Given the description of an element on the screen output the (x, y) to click on. 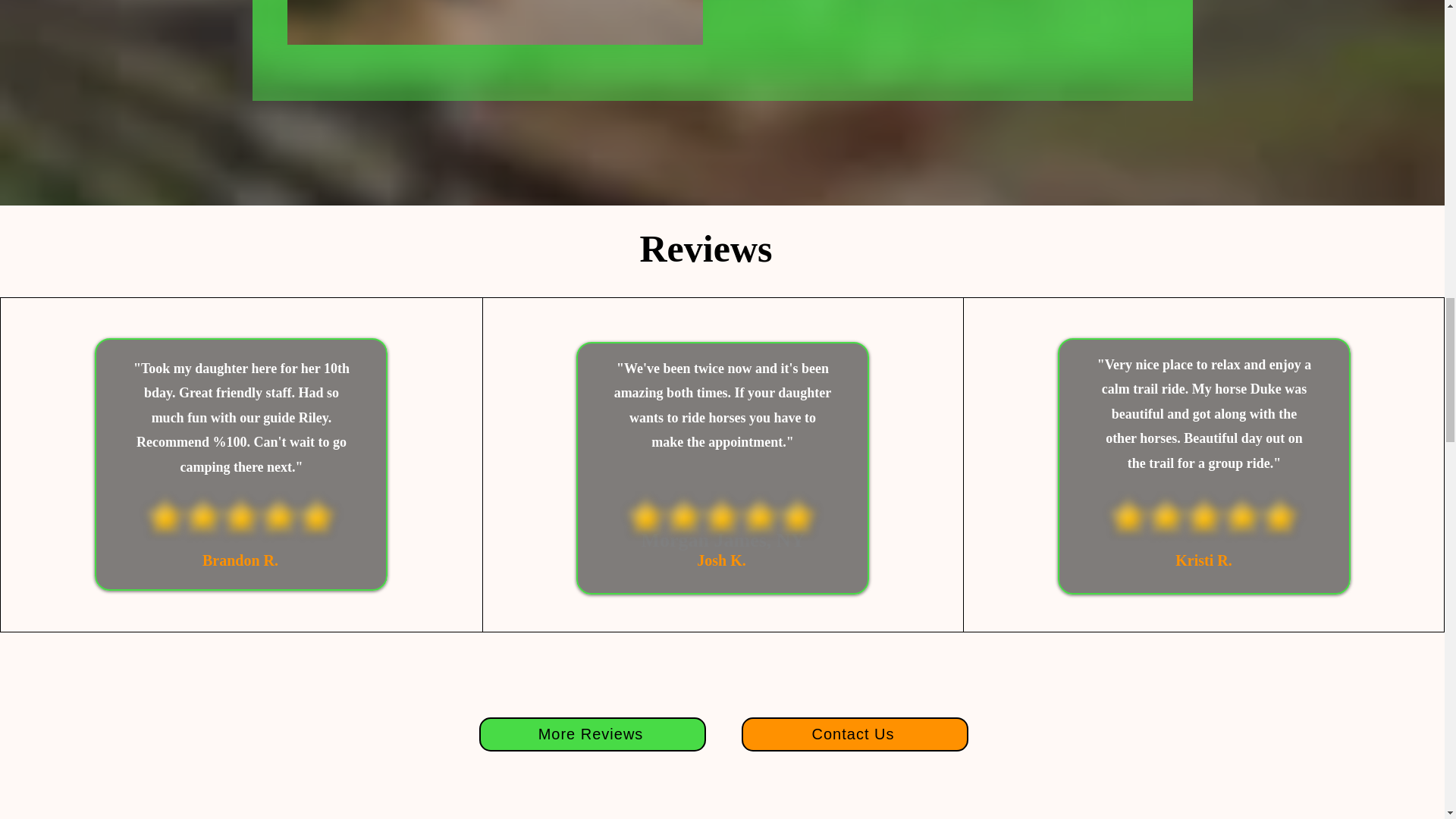
Contact Us (854, 734)
More Reviews (592, 734)
